Given the description of an element on the screen output the (x, y) to click on. 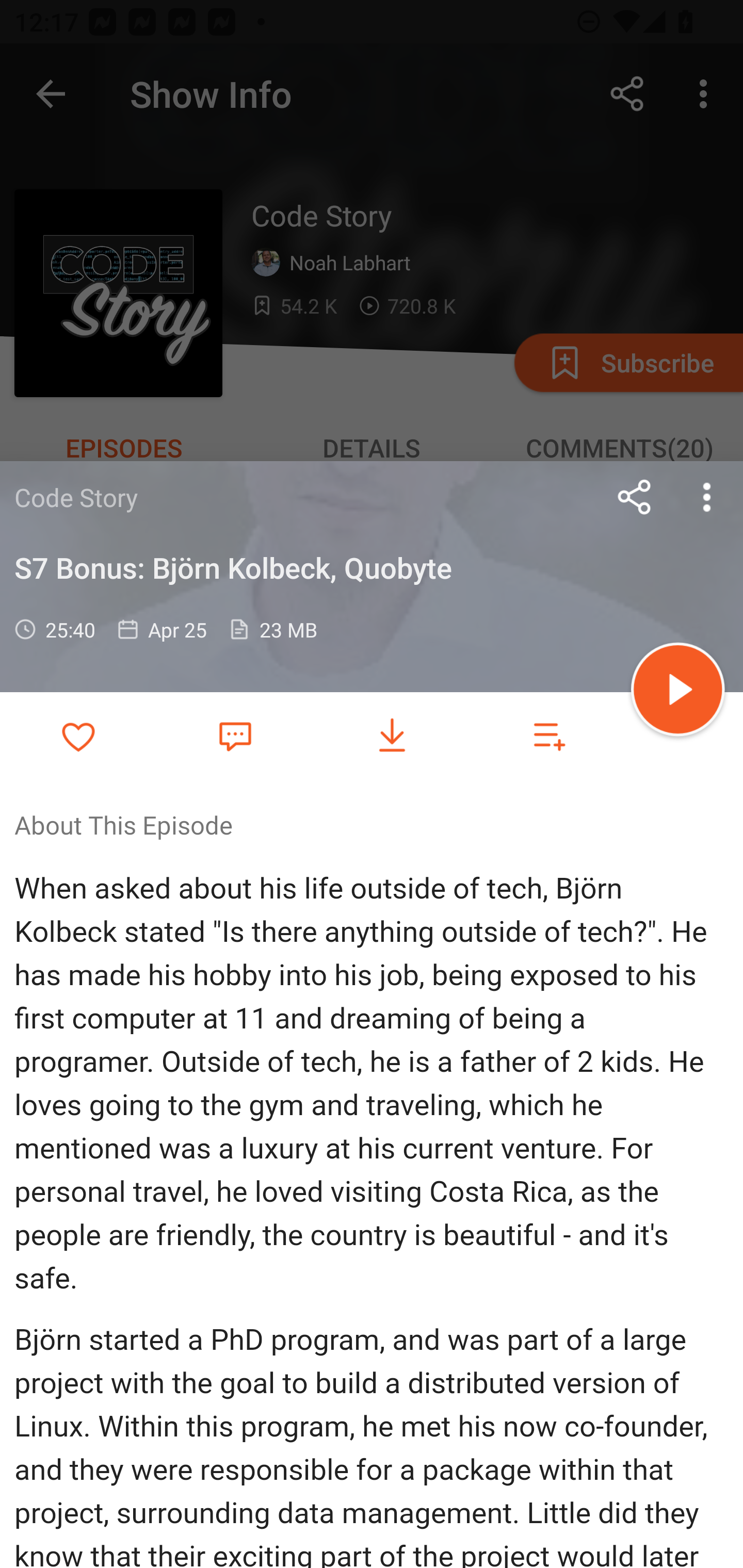
Share (634, 496)
more options (706, 496)
Play (677, 692)
Favorite (234, 735)
Add to Favorites (78, 735)
Download (391, 735)
Add to playlist (548, 735)
